Given the description of an element on the screen output the (x, y) to click on. 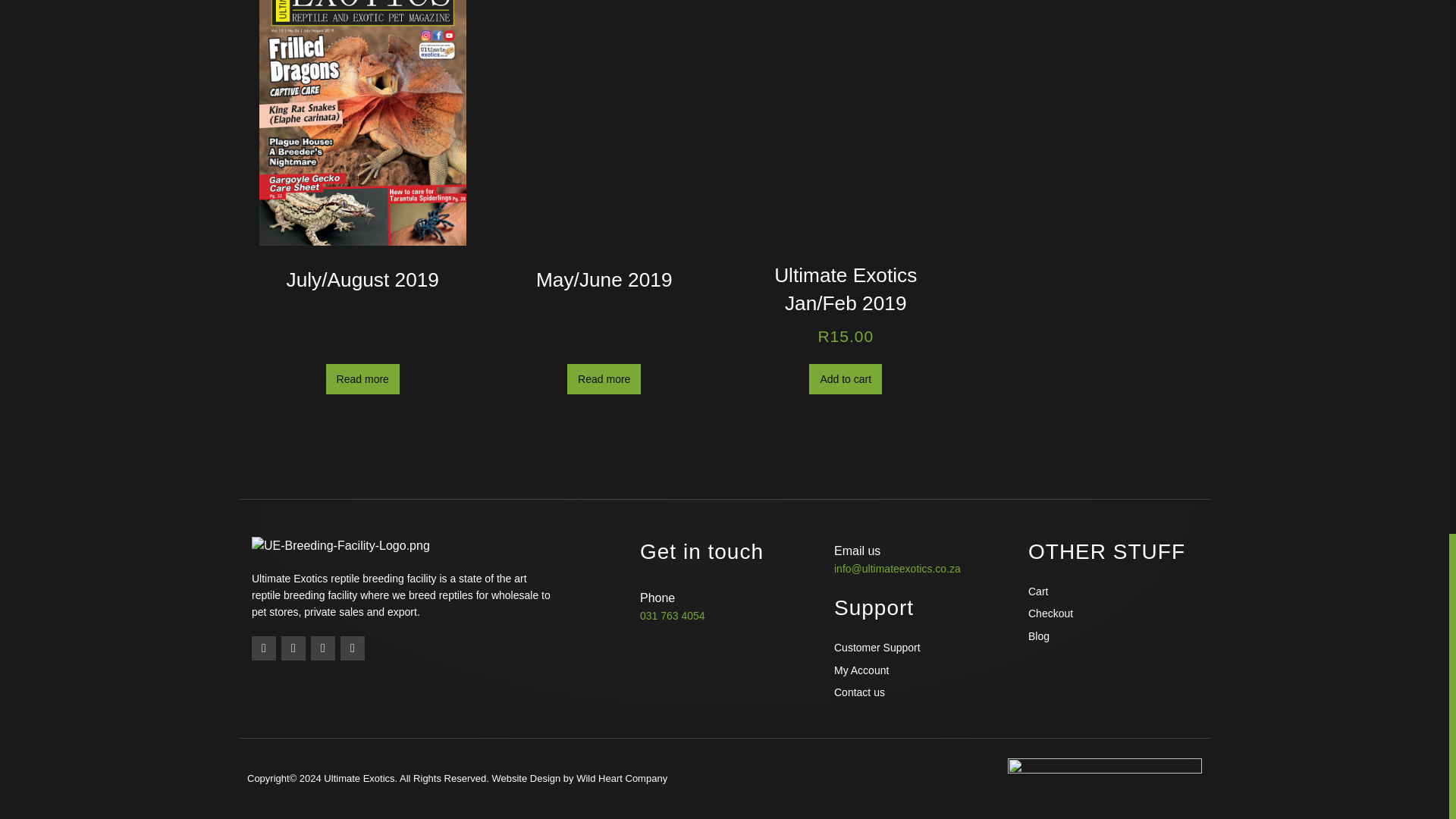
Wild Heart Company (621, 778)
Contact us (919, 692)
Customer Support (919, 647)
Read more (603, 378)
Checkout (1112, 613)
Add to cart (845, 378)
My Account (919, 669)
Cart (1112, 591)
Read more (362, 378)
UE-Breeding-Facility-Logo.png (340, 546)
